Given the description of an element on the screen output the (x, y) to click on. 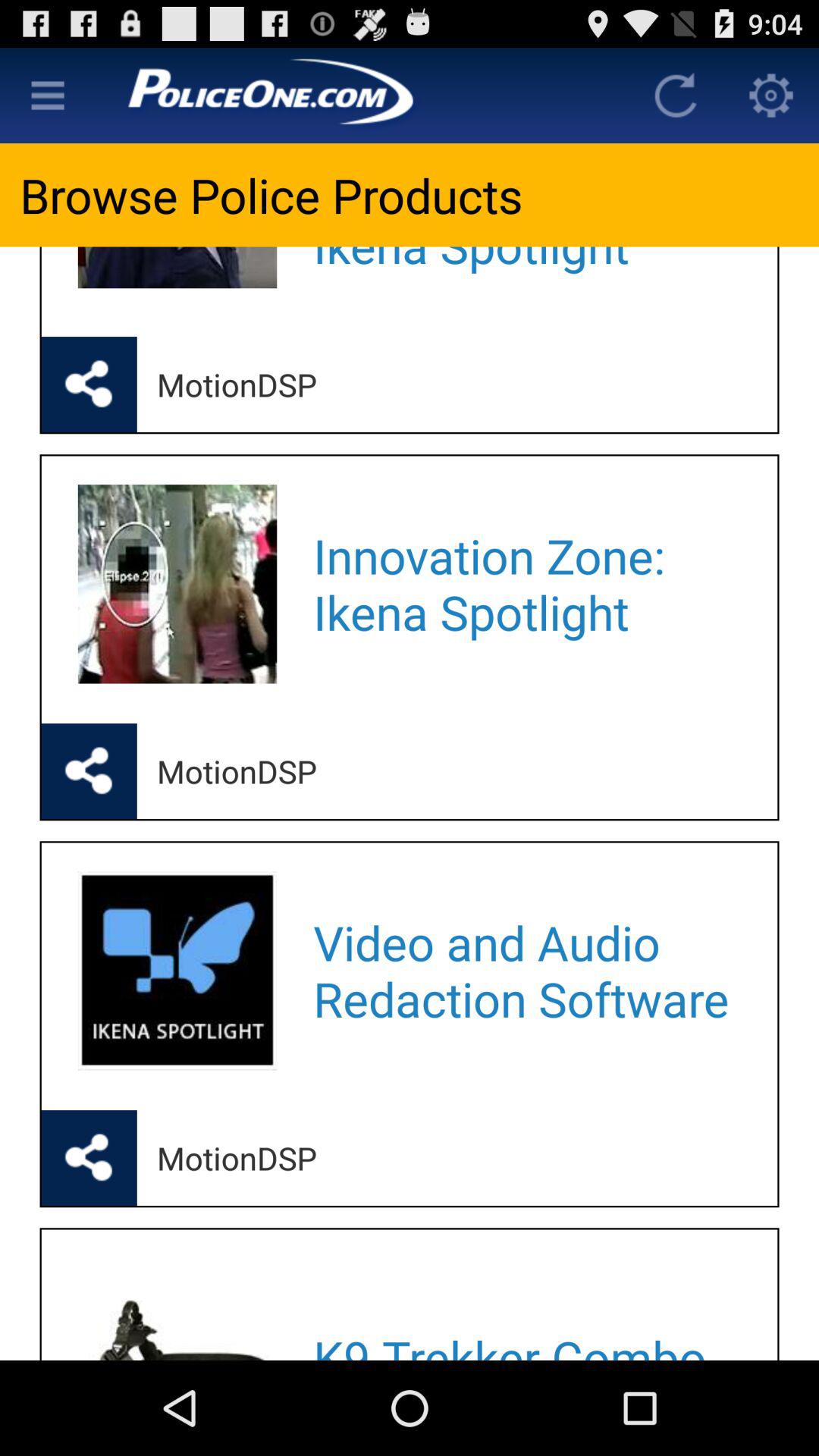
click on the second imag (177, 970)
click the box to share the post (89, 1157)
